Given the description of an element on the screen output the (x, y) to click on. 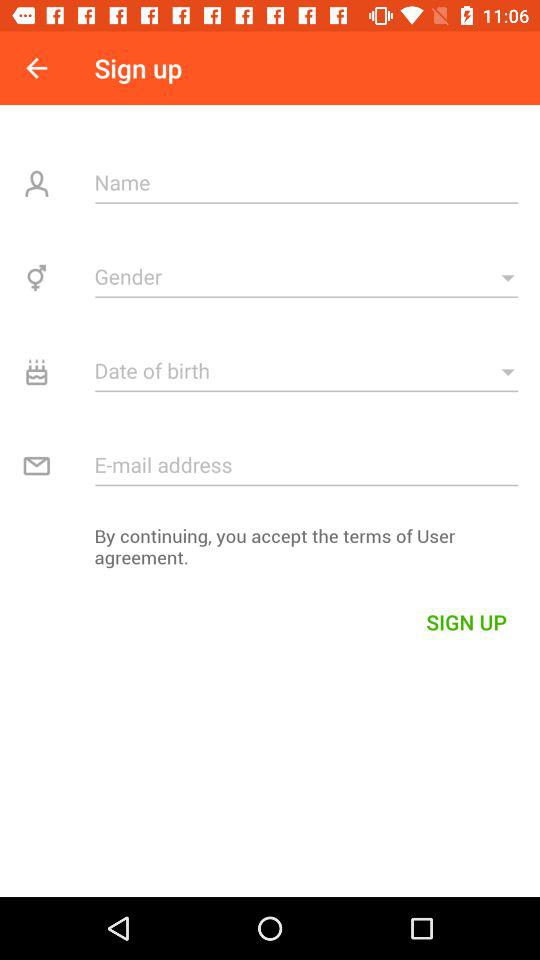
add name (306, 182)
